Given the description of an element on the screen output the (x, y) to click on. 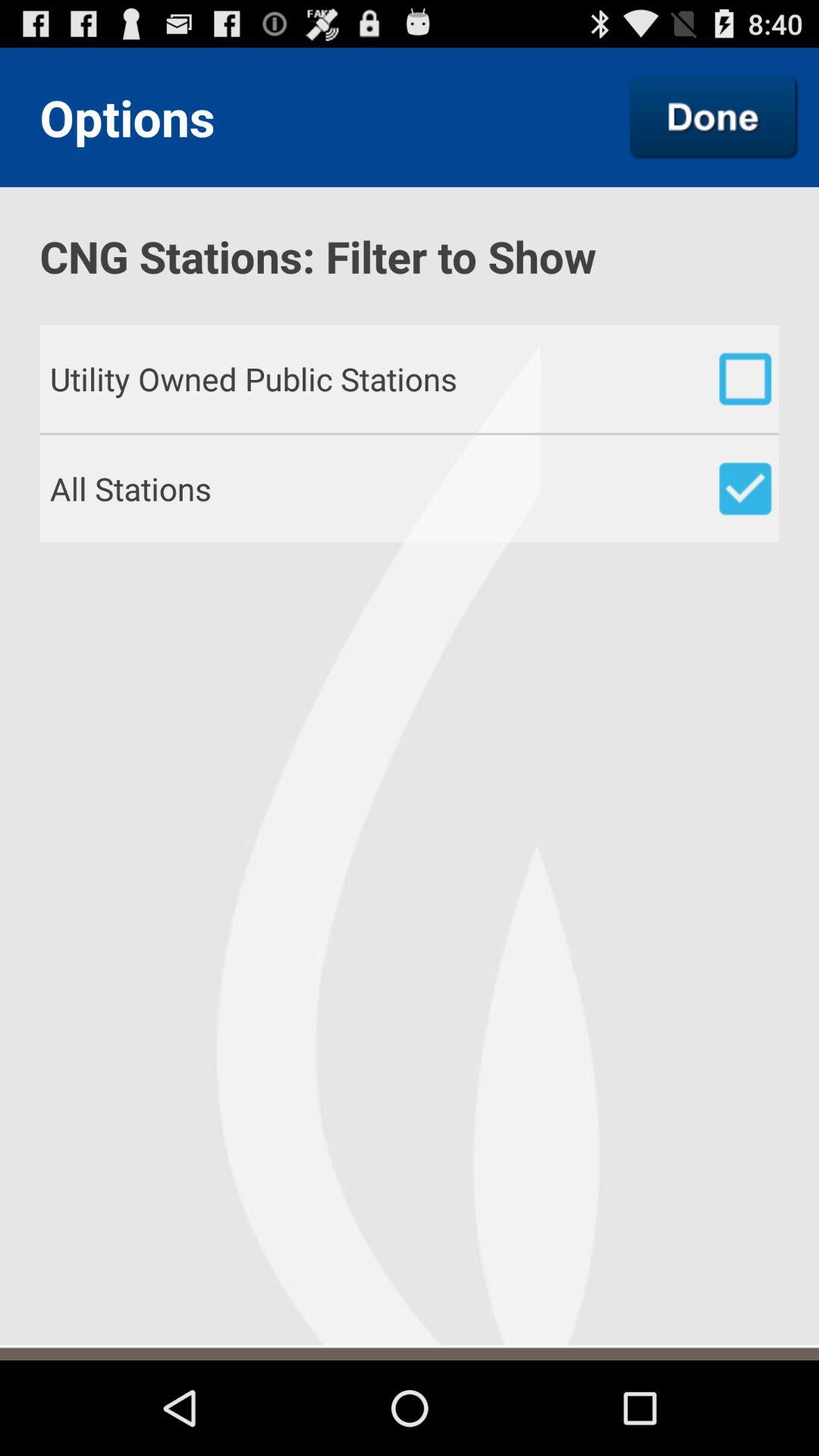
tap the item next to the options app (714, 117)
